Given the description of an element on the screen output the (x, y) to click on. 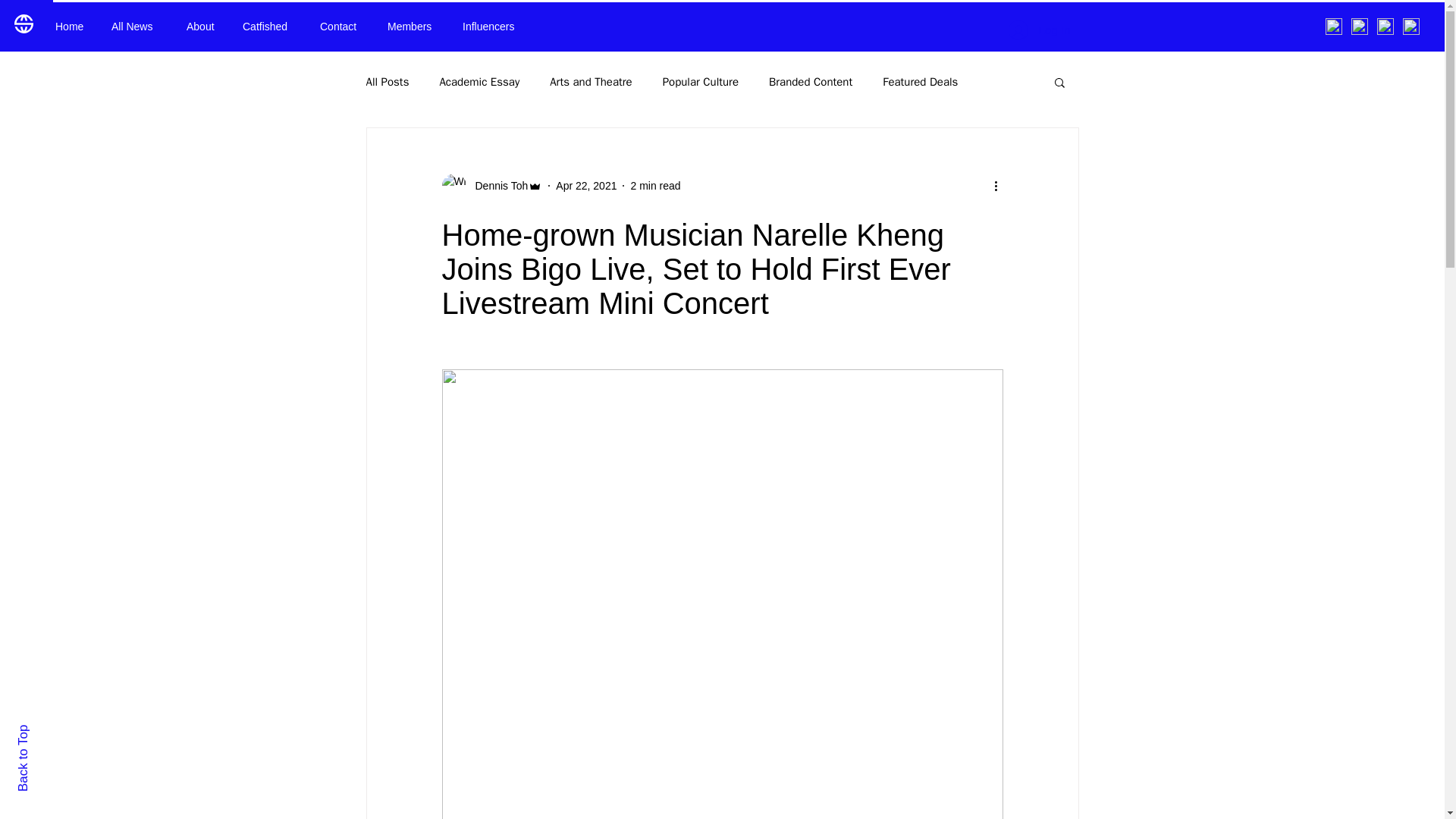
Apr 22, 2021 (585, 184)
Influencers (494, 26)
Featured Deals (920, 81)
All News (137, 26)
Catfished (269, 26)
Home (71, 26)
Log In (1039, 29)
Members (413, 26)
Contact (341, 26)
Dennis Toh (491, 185)
Academic Essay (479, 81)
About (202, 26)
Arts and Theatre (590, 81)
Branded Content (809, 81)
Popular Culture (700, 81)
